Given the description of an element on the screen output the (x, y) to click on. 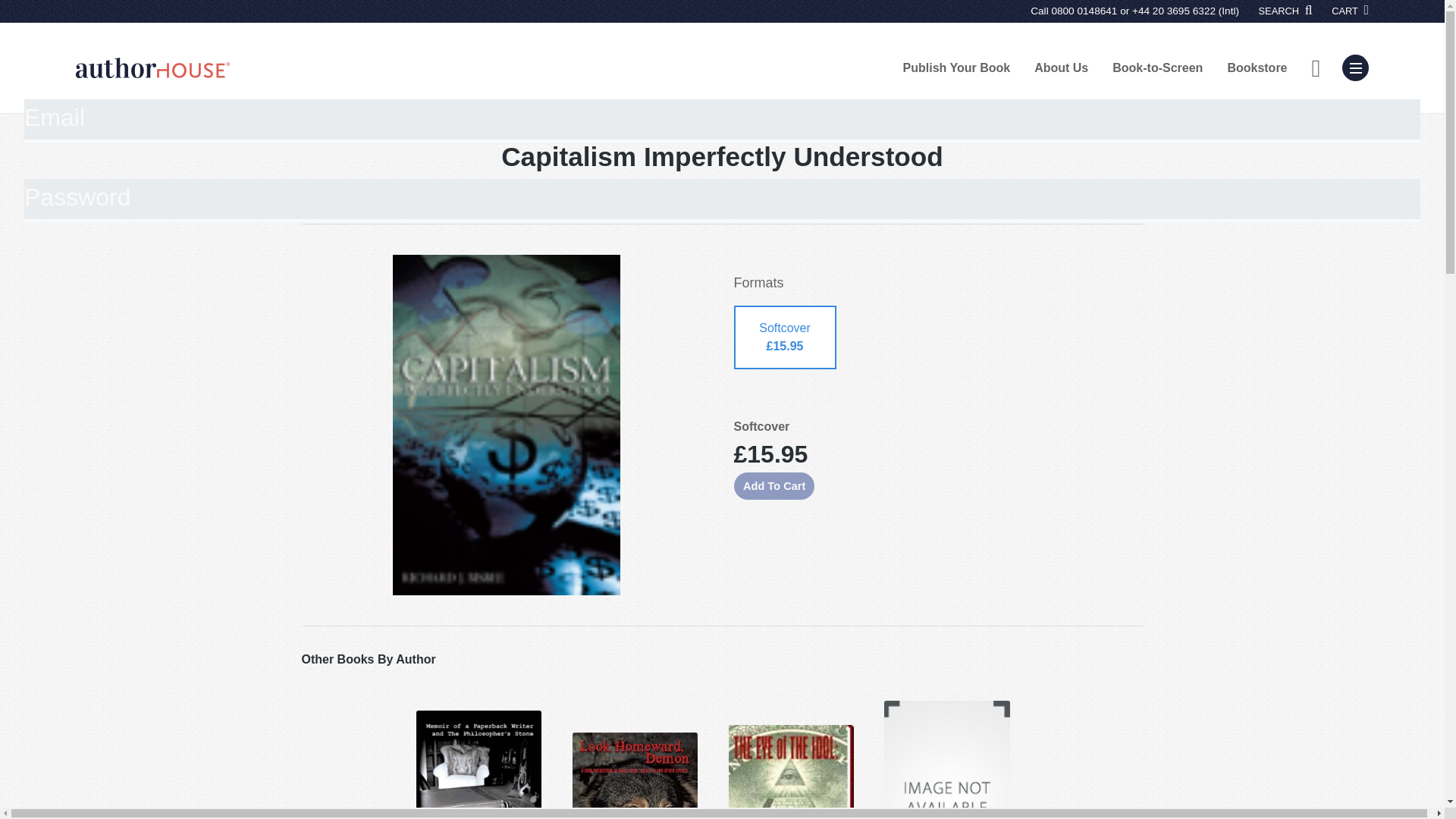
The Eye of the Idol (791, 771)
Book-to-Screen (1157, 67)
Memoir of a Paperback Writer and The Philosopher's Stone (477, 764)
The Illusion Dwellers:Book I (946, 759)
Publish Your Book (957, 67)
About Us (1061, 67)
CART (1350, 11)
Menu (1355, 67)
Bookstore (1256, 67)
Look Homeward, Demon (635, 775)
SEARCH (1286, 11)
Add To Cart (773, 485)
